Given the description of an element on the screen output the (x, y) to click on. 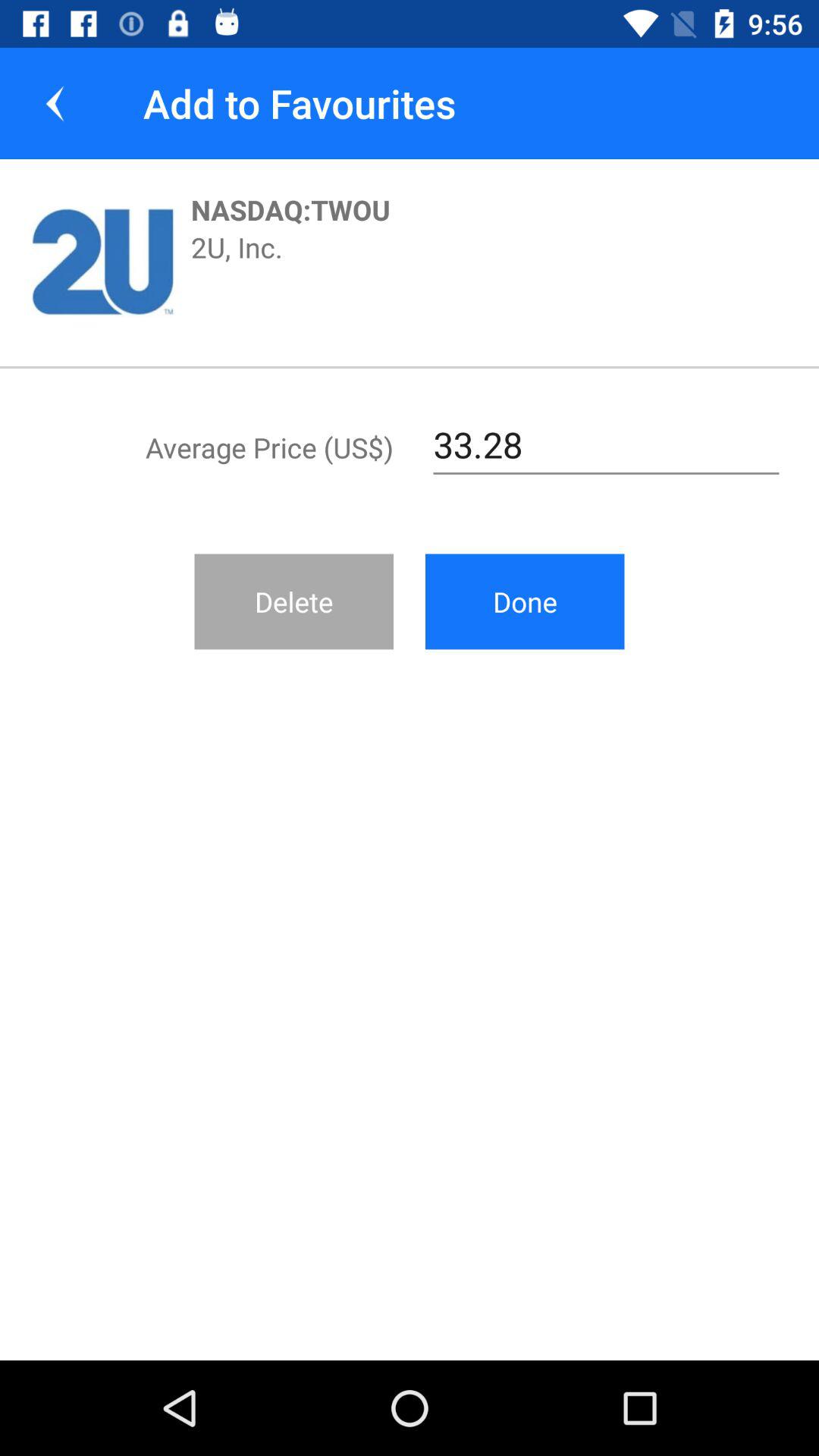
choose the item next to average price (us$) item (606, 445)
